Given the description of an element on the screen output the (x, y) to click on. 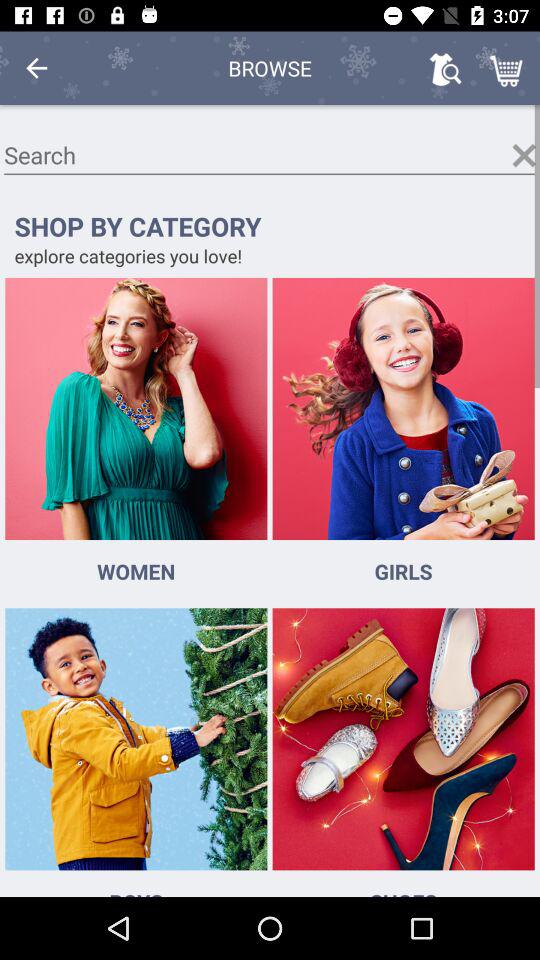
clears out text (524, 155)
